Given the description of an element on the screen output the (x, y) to click on. 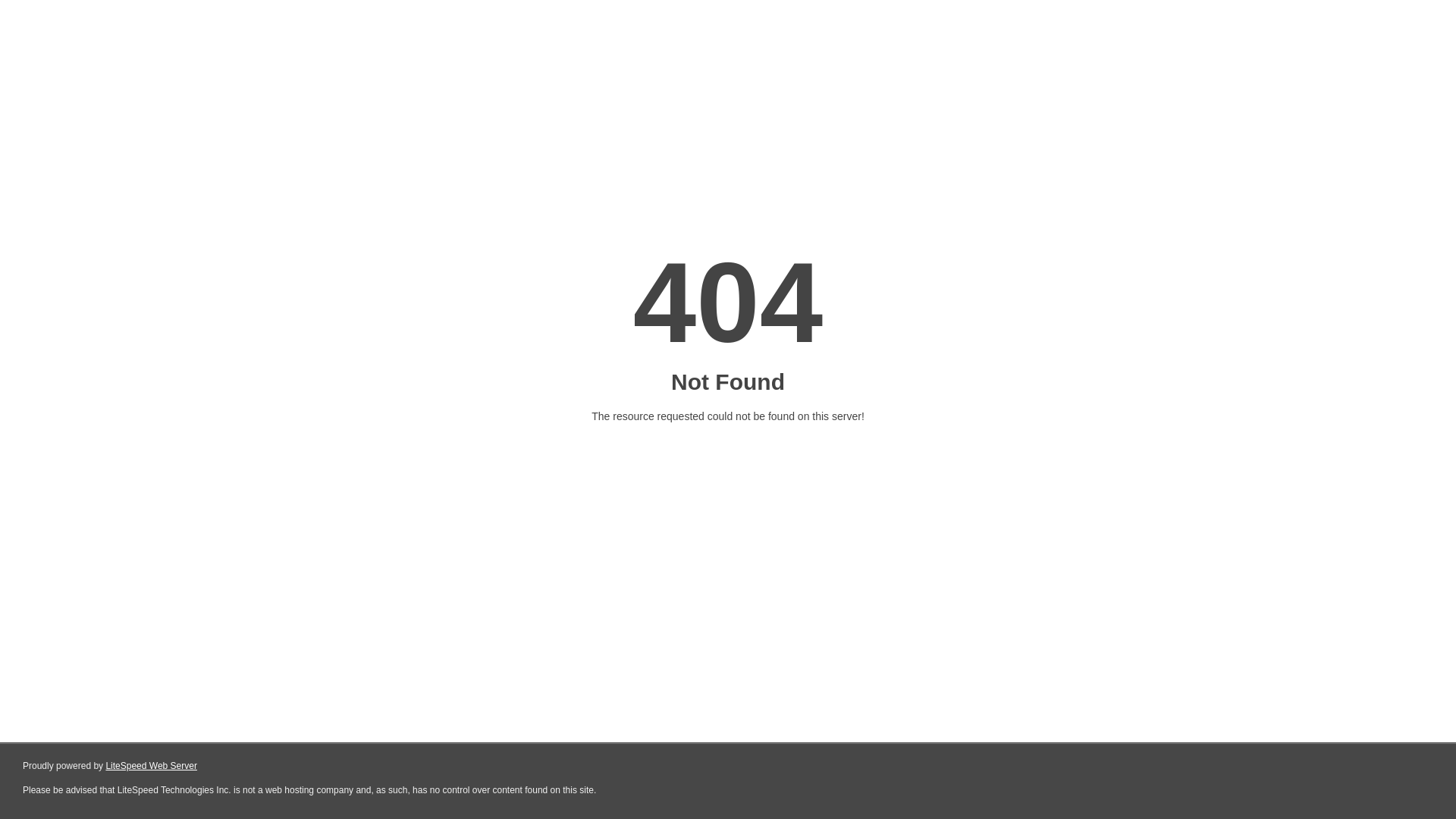
LiteSpeed Web Server Element type: text (151, 765)
